Given the description of an element on the screen output the (x, y) to click on. 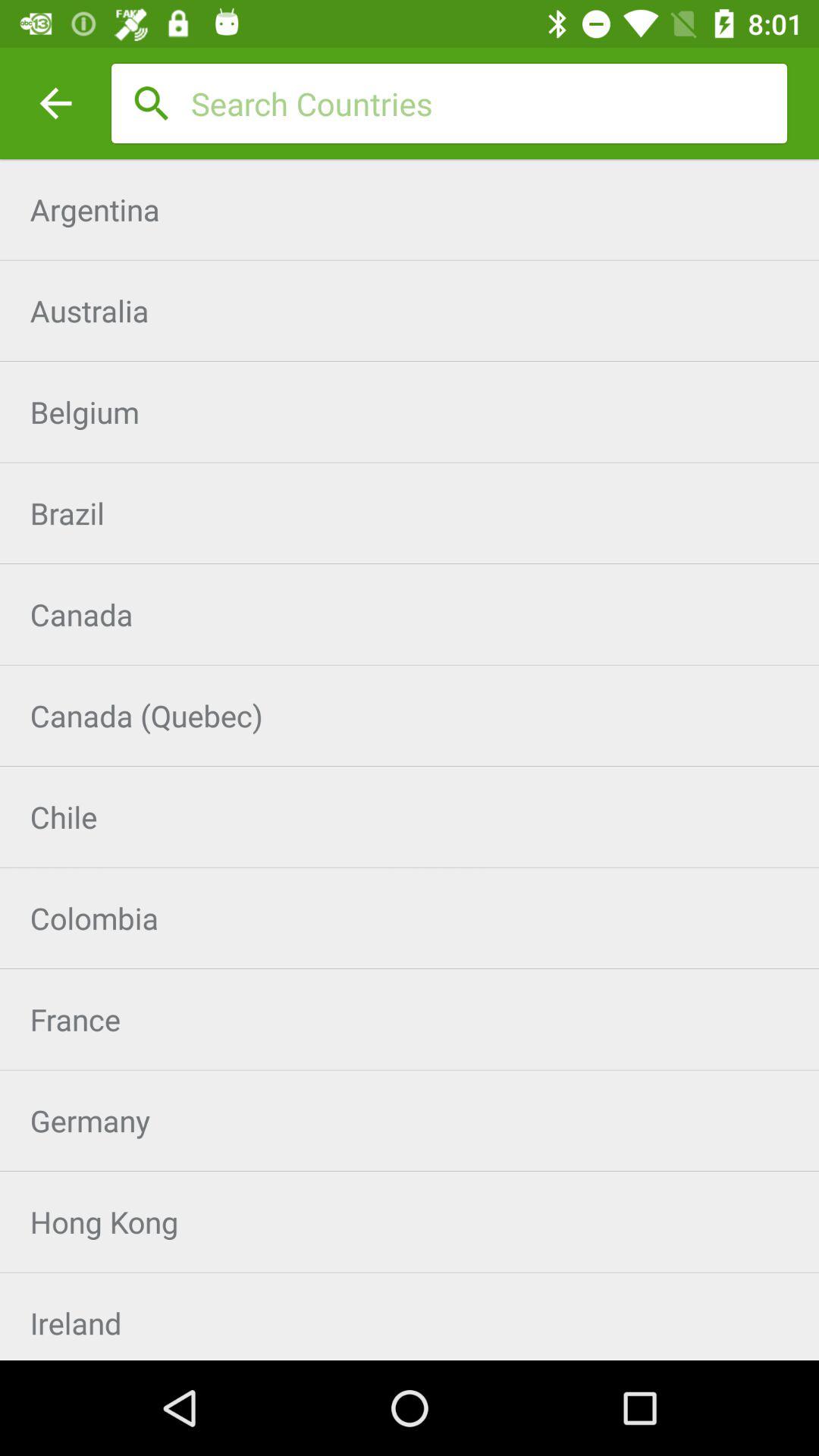
search (489, 103)
